Given the description of an element on the screen output the (x, y) to click on. 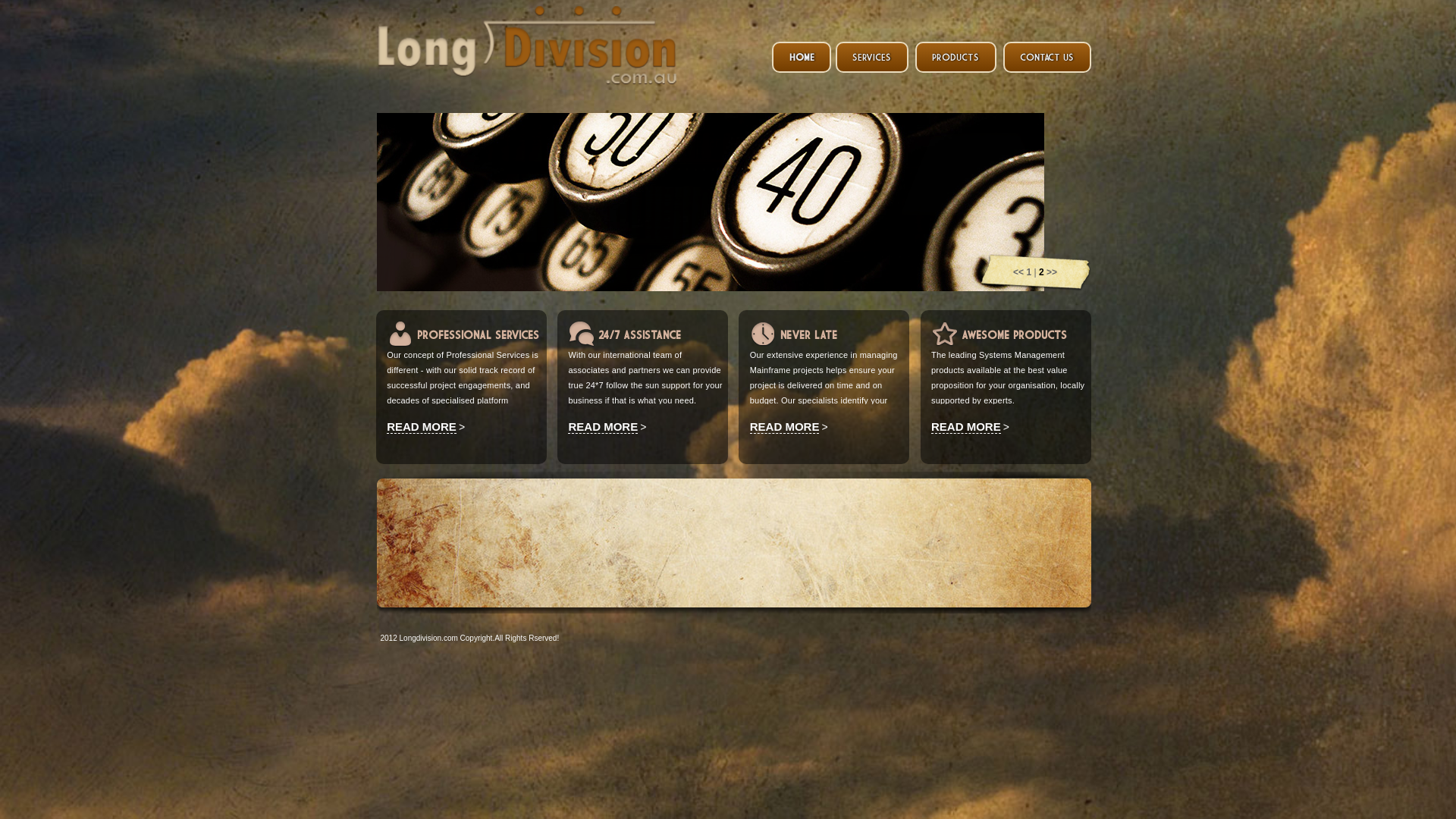
READ MORE Element type: text (421, 426)
24/7 ASSISTANCE Element type: text (639, 334)
CONTACT US Element type: text (1046, 56)
SKIP TO PRIMARY CONTENT Element type: text (785, 52)
READ MORE Element type: text (784, 426)
HOME Element type: text (801, 56)
Long Division Element type: hover (526, 72)
NEVER LATE Element type: text (808, 334)
PRODUCTS Element type: text (955, 56)
SERVICES Element type: text (871, 56)
READ MORE Element type: text (602, 426)
PROFESSIONAL SERVICES Element type: text (478, 334)
SKIP TO SECONDARY CONTENT Element type: text (795, 52)
READ MORE Element type: text (966, 426)
AWESOME PRODUCTS Element type: text (1013, 334)
